Given the description of an element on the screen output the (x, y) to click on. 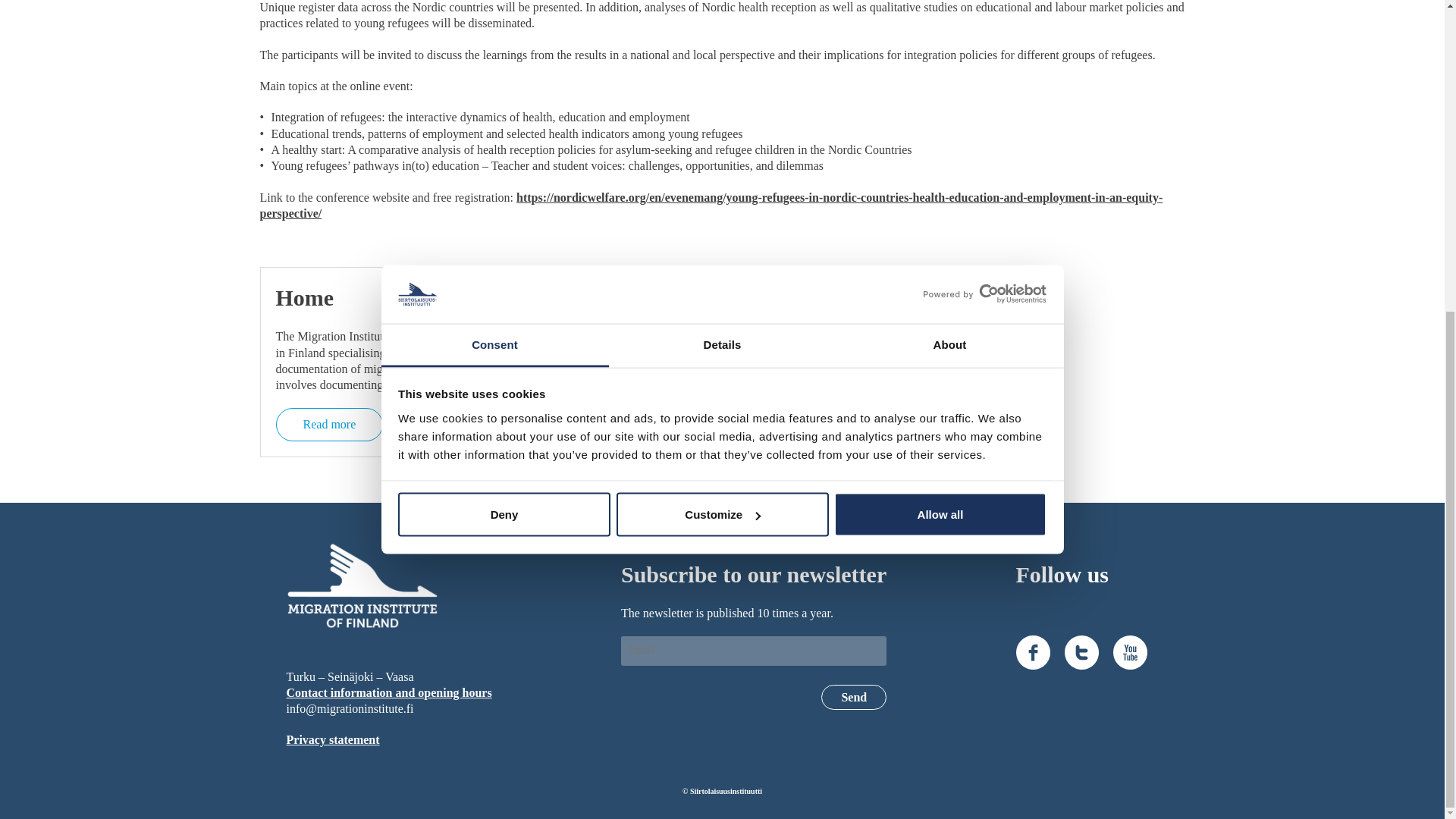
Deny (503, 20)
Send (853, 697)
Allow all (940, 20)
Customize (721, 20)
